Given the description of an element on the screen output the (x, y) to click on. 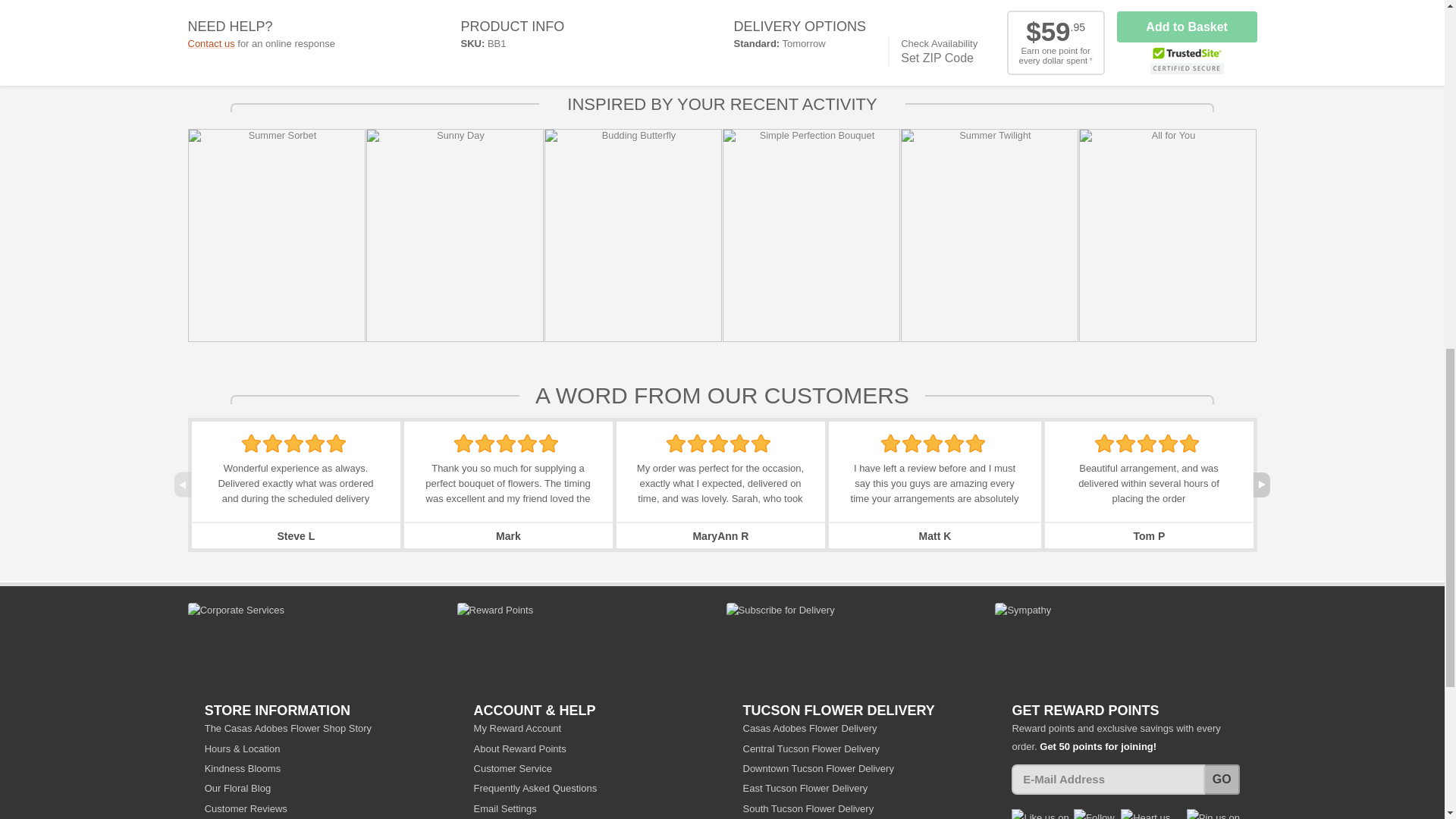
Full Star (336, 443)
Full Star (505, 443)
Full Star (292, 443)
Full Star (314, 443)
Full Star (250, 443)
Full Star (463, 443)
Full Star (527, 443)
Full Star (272, 443)
Full Star (675, 443)
Full Star (485, 443)
